Given the description of an element on the screen output the (x, y) to click on. 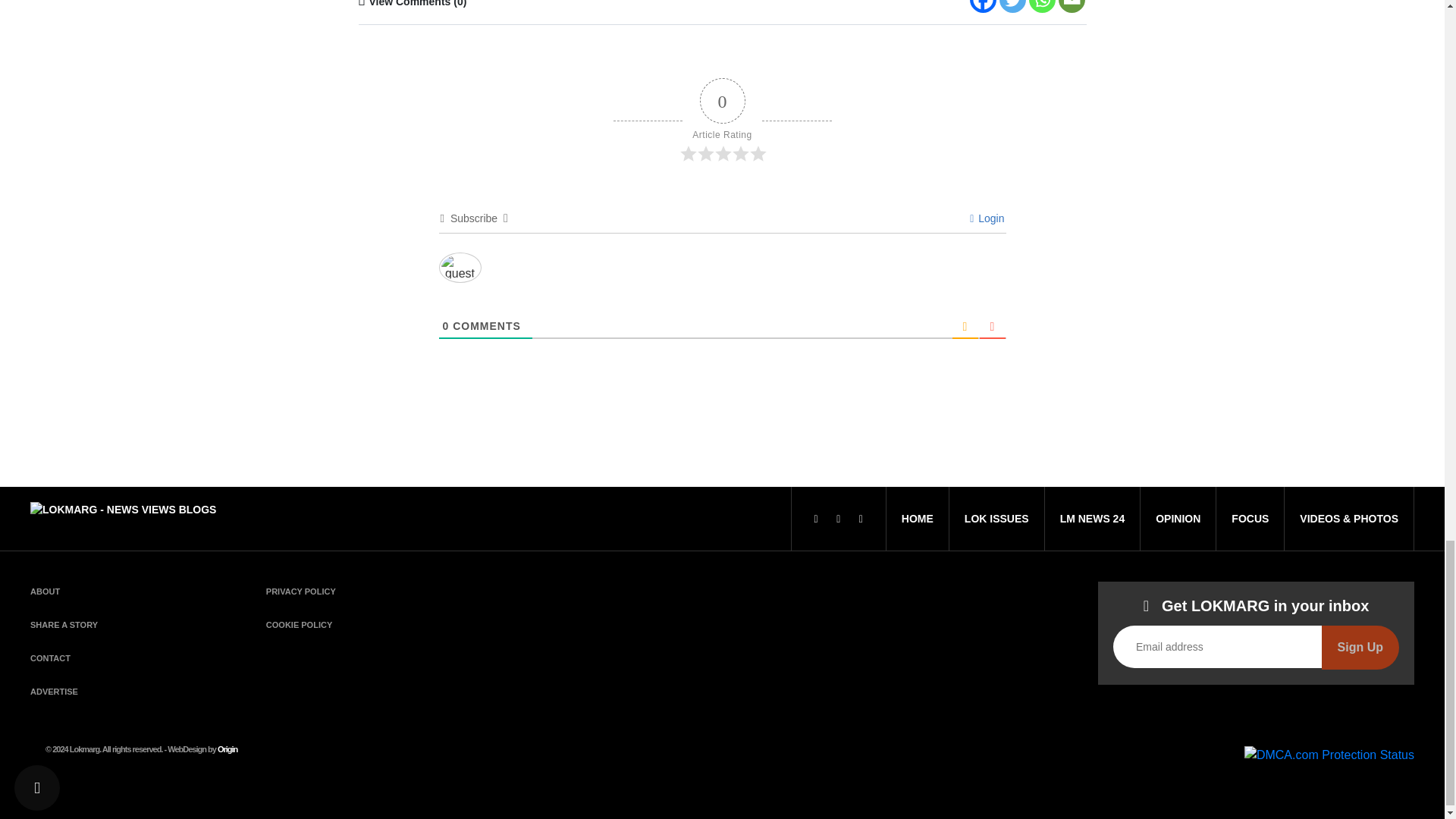
Sign Up (1360, 647)
Login (986, 218)
